Given the description of an element on the screen output the (x, y) to click on. 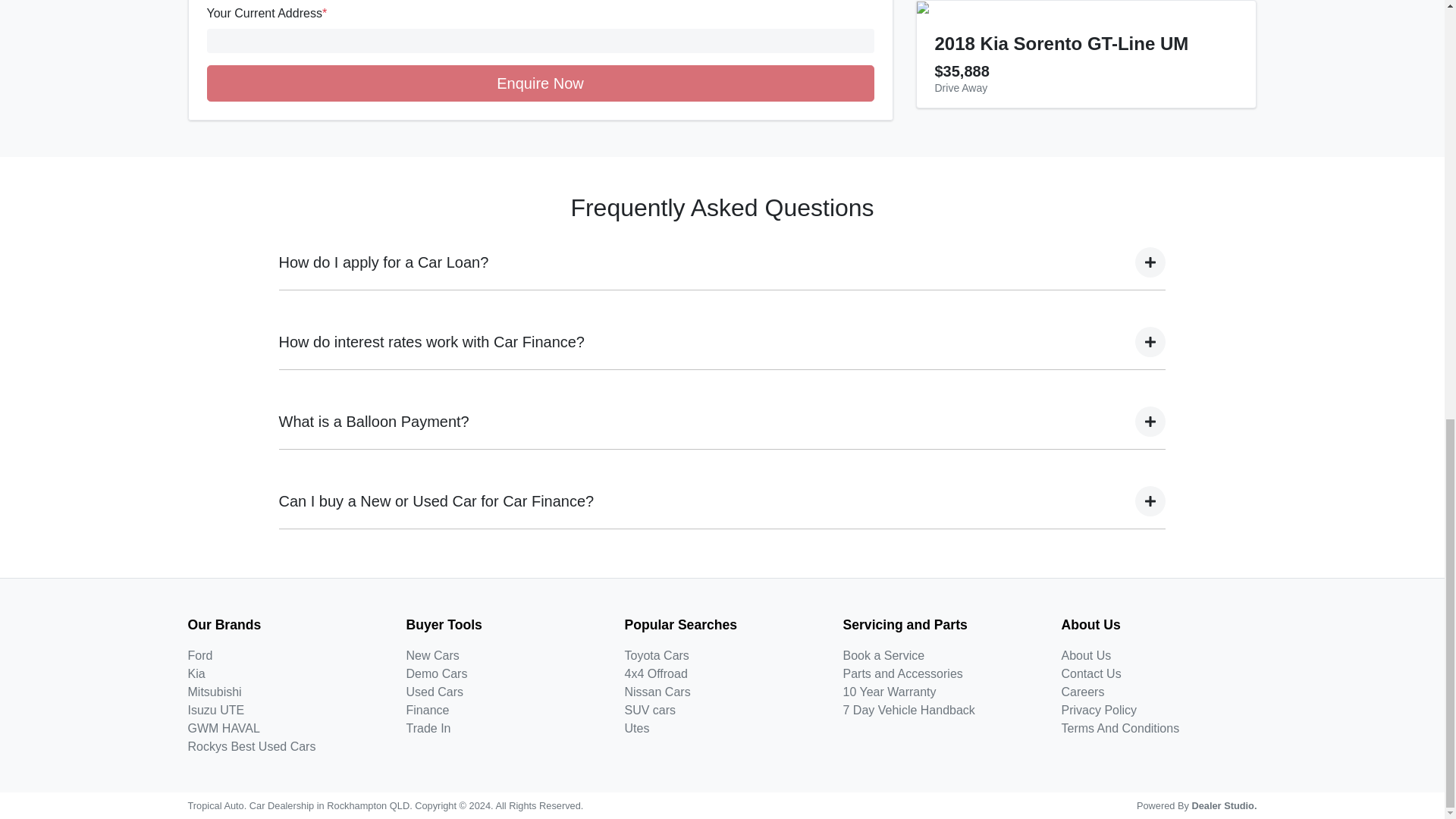
New Cars (433, 655)
Ford (199, 655)
SUV cars (650, 709)
Toyota Cars (656, 655)
Nissan Cars (657, 691)
Rockys Best Used Cars (251, 746)
Parts and Accessories (902, 673)
Mitsubishi (214, 691)
GWM HAVAL (223, 727)
10 Year Warranty (889, 691)
Kia (196, 673)
Used Cars (435, 691)
4x4 Offroad (655, 673)
Book a Service (883, 655)
Utes (636, 727)
